Given the description of an element on the screen output the (x, y) to click on. 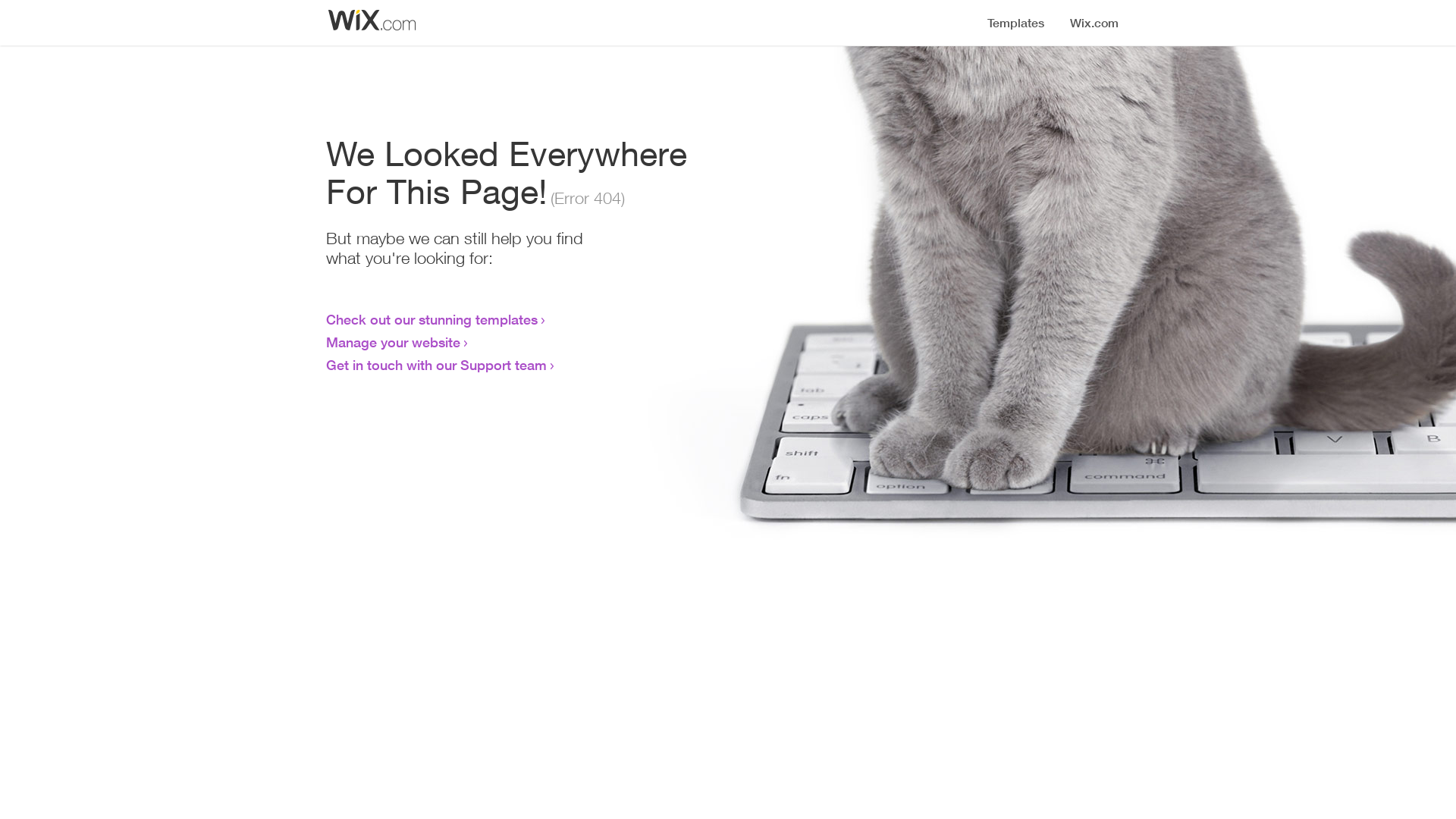
Manage your website Element type: text (393, 341)
Get in touch with our Support team Element type: text (436, 364)
Check out our stunning templates Element type: text (431, 318)
